Given the description of an element on the screen output the (x, y) to click on. 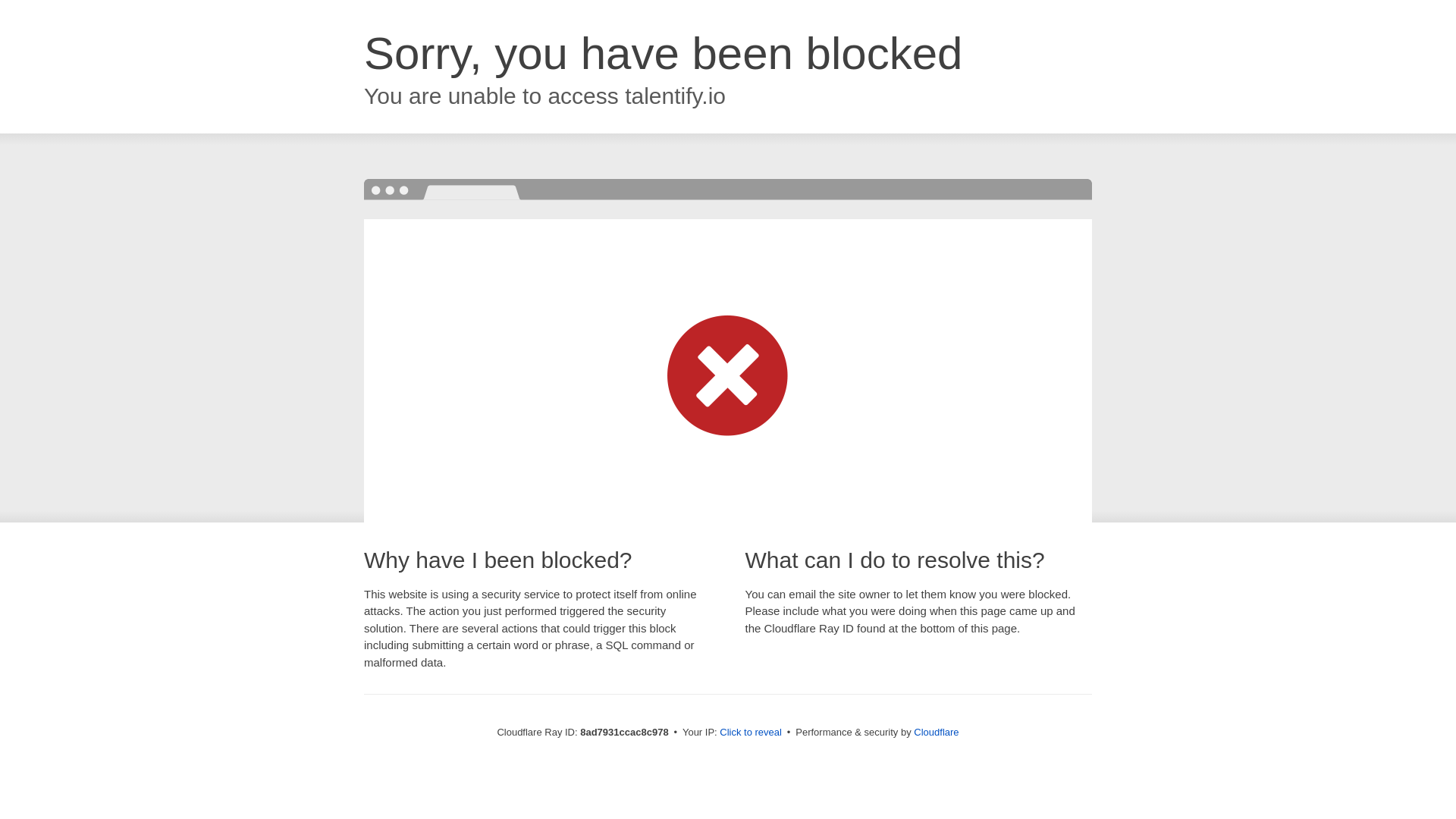
Cloudflare (936, 731)
Click to reveal (750, 732)
